Given the description of an element on the screen output the (x, y) to click on. 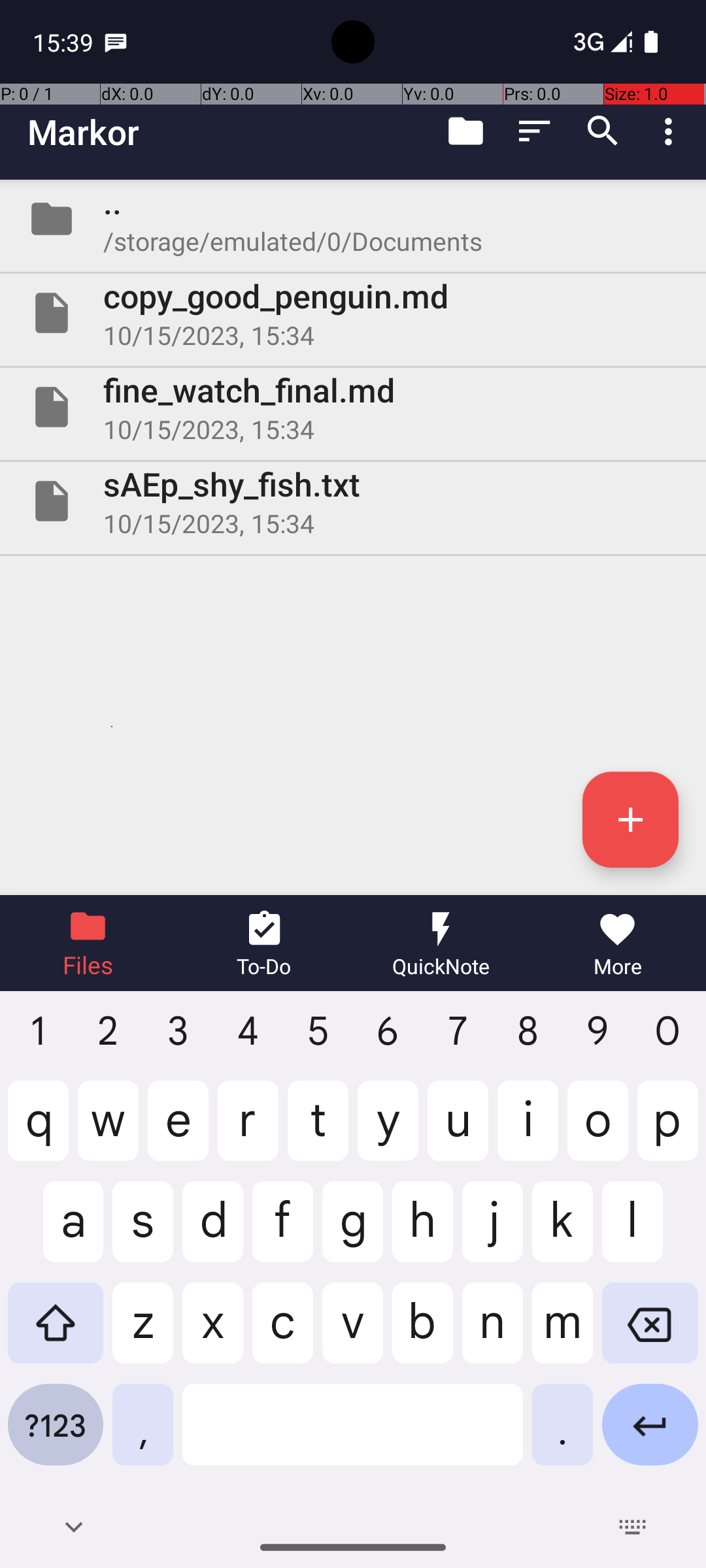
File copy_good_penguin.md  Element type: android.widget.LinearLayout (353, 312)
File fine_watch_final.md  Element type: android.widget.LinearLayout (353, 406)
File sAEp_shy_fish.txt  Element type: android.widget.LinearLayout (353, 500)
15:39 Element type: android.widget.TextView (64, 41)
